Given the description of an element on the screen output the (x, y) to click on. 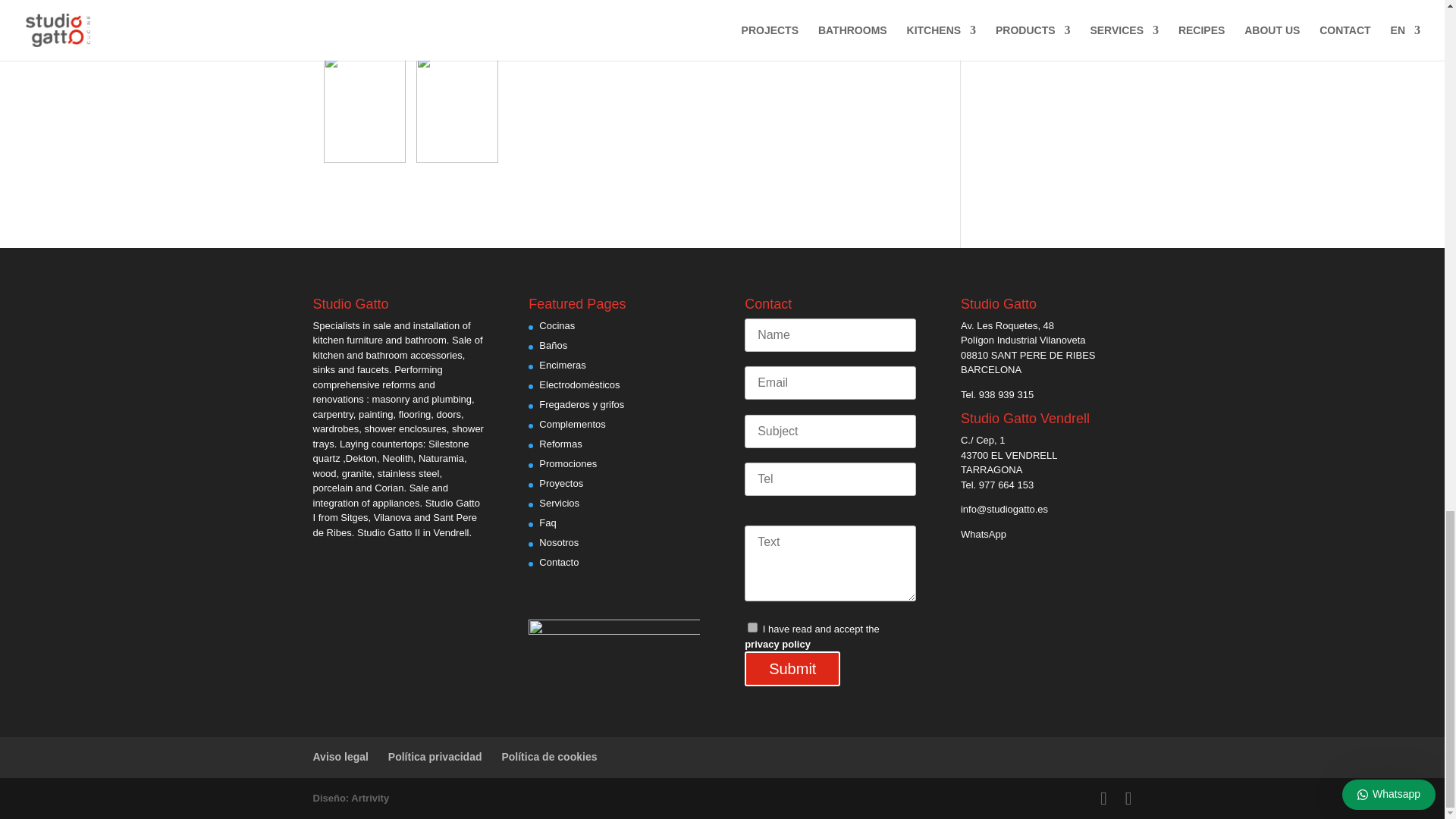
1 (752, 627)
Submit (792, 668)
Cocinas (556, 325)
